Given the description of an element on the screen output the (x, y) to click on. 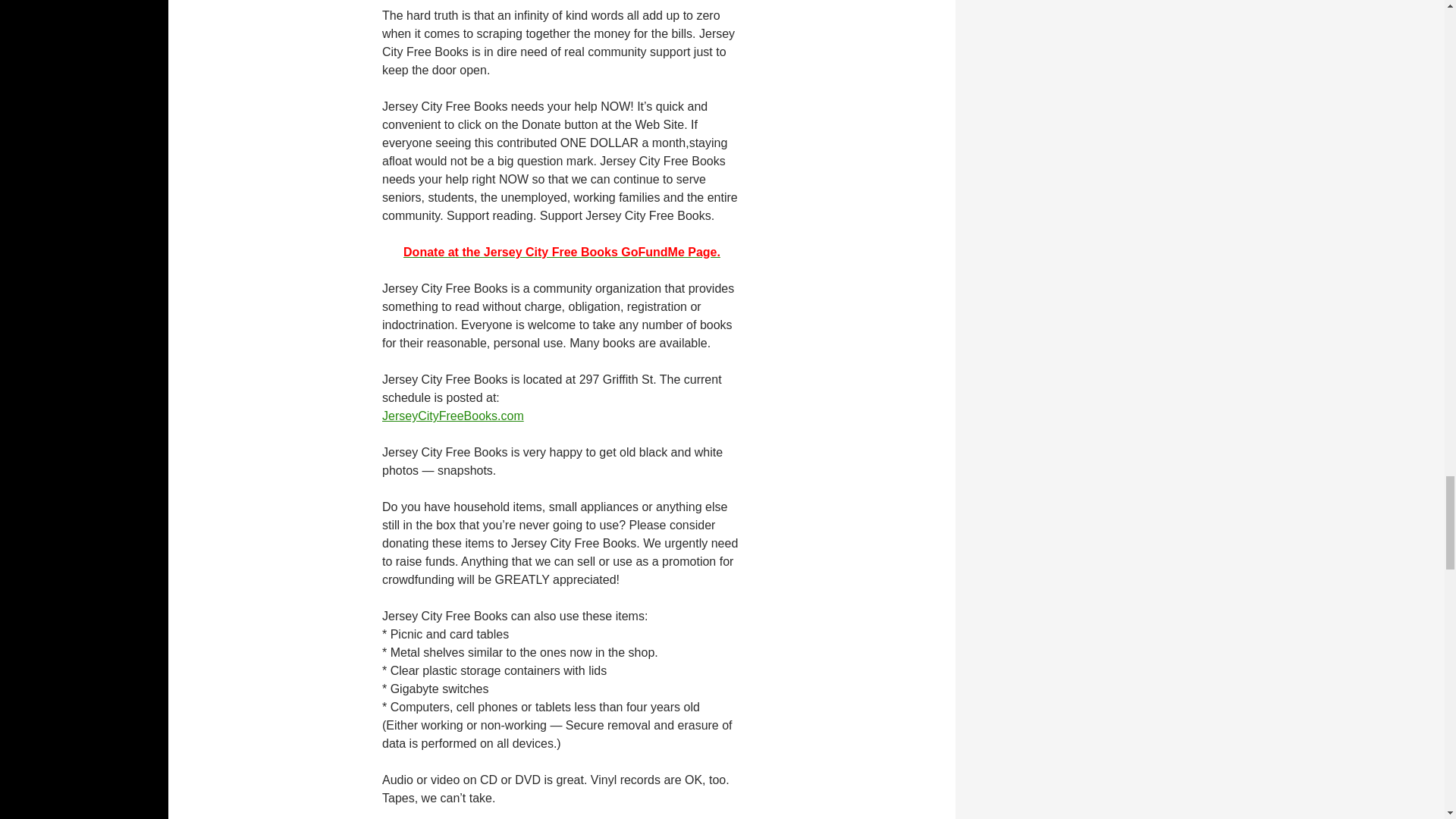
Donate at the Jersey City Free Books GoFundMe Page. (561, 251)
JerseyCityFreeBooks.com (452, 415)
